Given the description of an element on the screen output the (x, y) to click on. 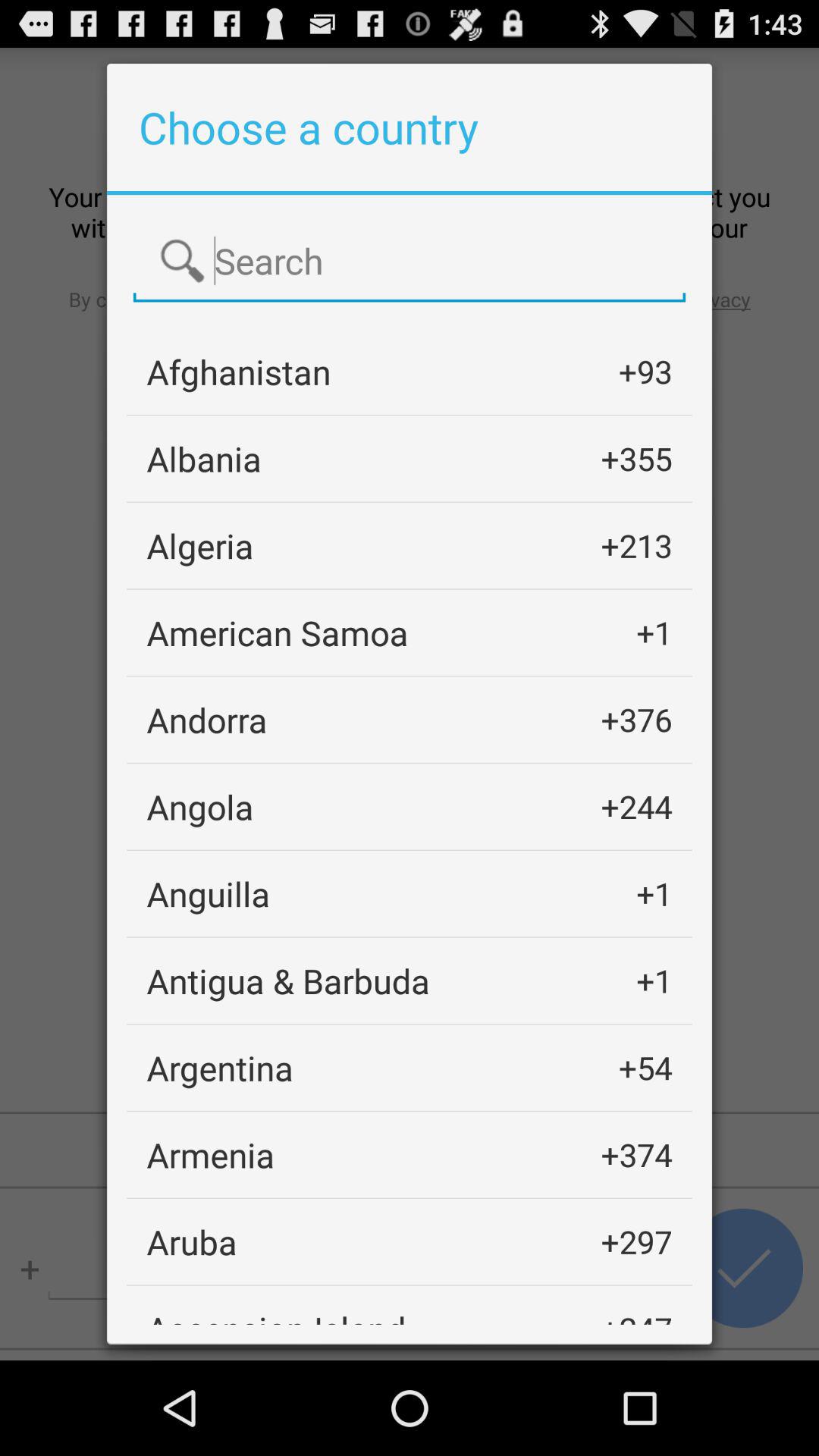
turn off app next to +247 item (276, 1314)
